Given the description of an element on the screen output the (x, y) to click on. 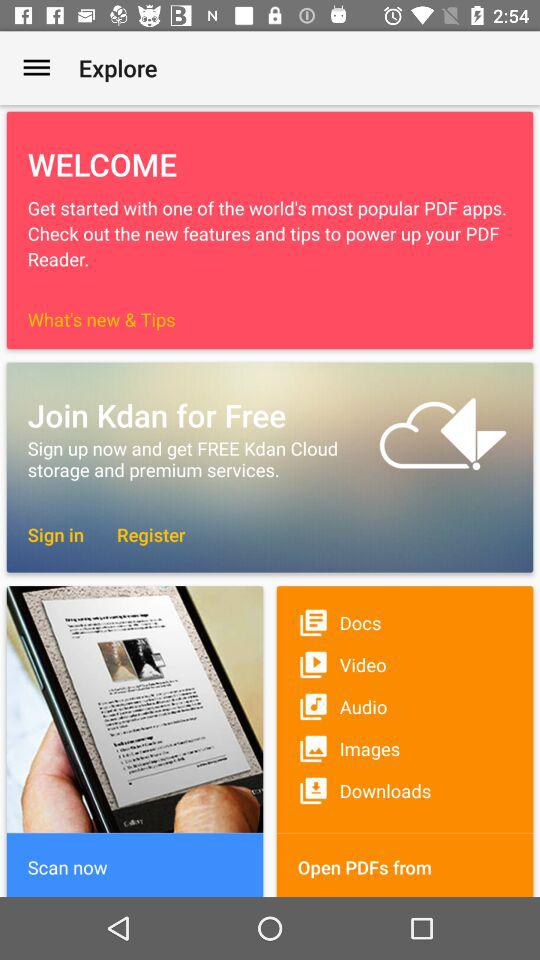
click item above video item (404, 622)
